Given the description of an element on the screen output the (x, y) to click on. 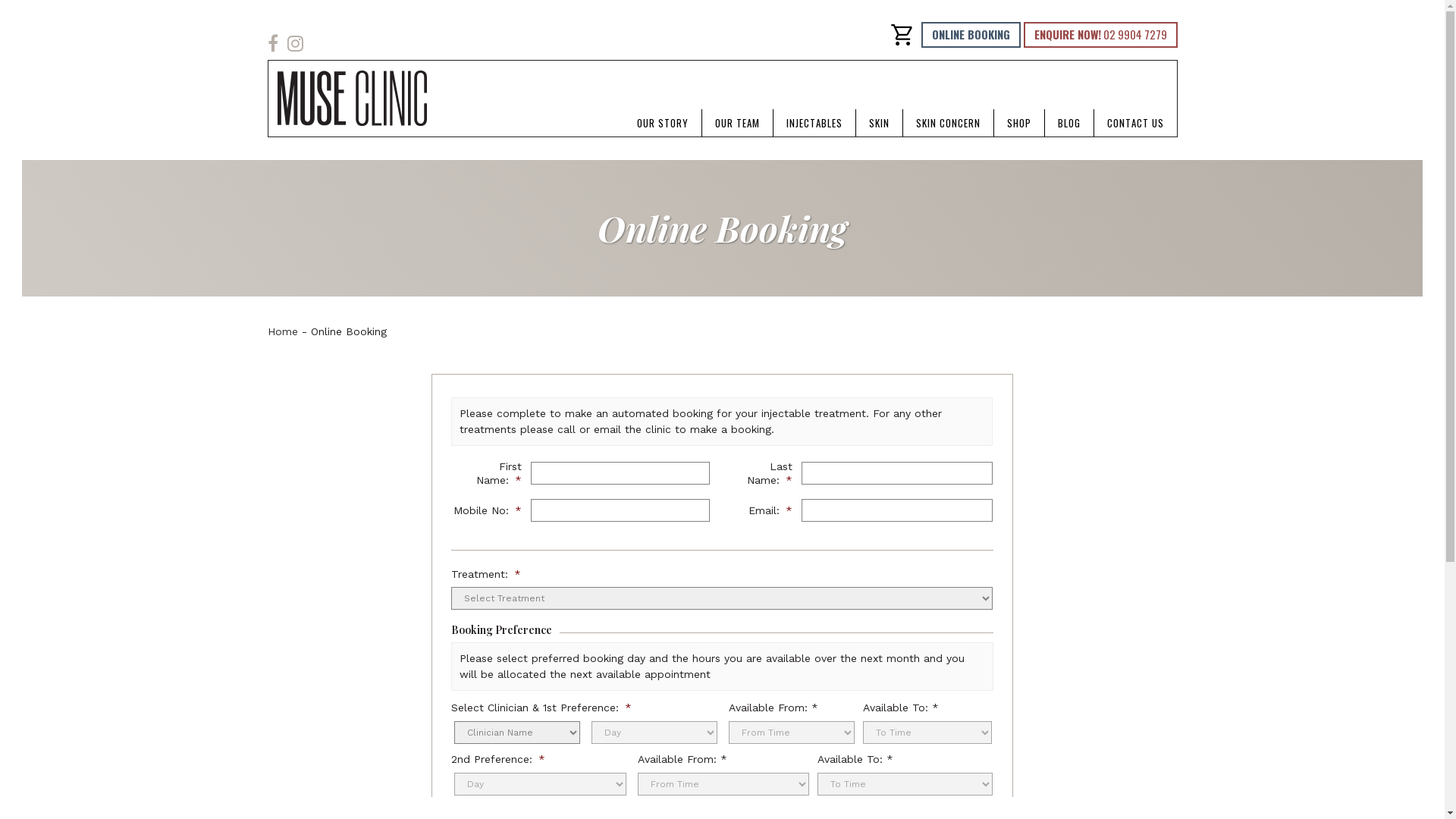
SHOP Element type: text (1018, 122)
Home Element type: text (281, 331)
CONTACT US Element type: text (1134, 122)
INJECTABLES Element type: text (814, 122)
OUR TEAM Element type: text (737, 122)
SKIN Element type: text (878, 122)
BLOG Element type: text (1068, 122)
Cart Element type: text (901, 34)
OUR STORY Element type: text (661, 122)
ONLINE BOOKING Element type: text (969, 34)
ENQUIRE NOW! 02 9904 7279 Element type: text (1100, 34)
SKIN CONCERN Element type: text (947, 122)
